Given the description of an element on the screen output the (x, y) to click on. 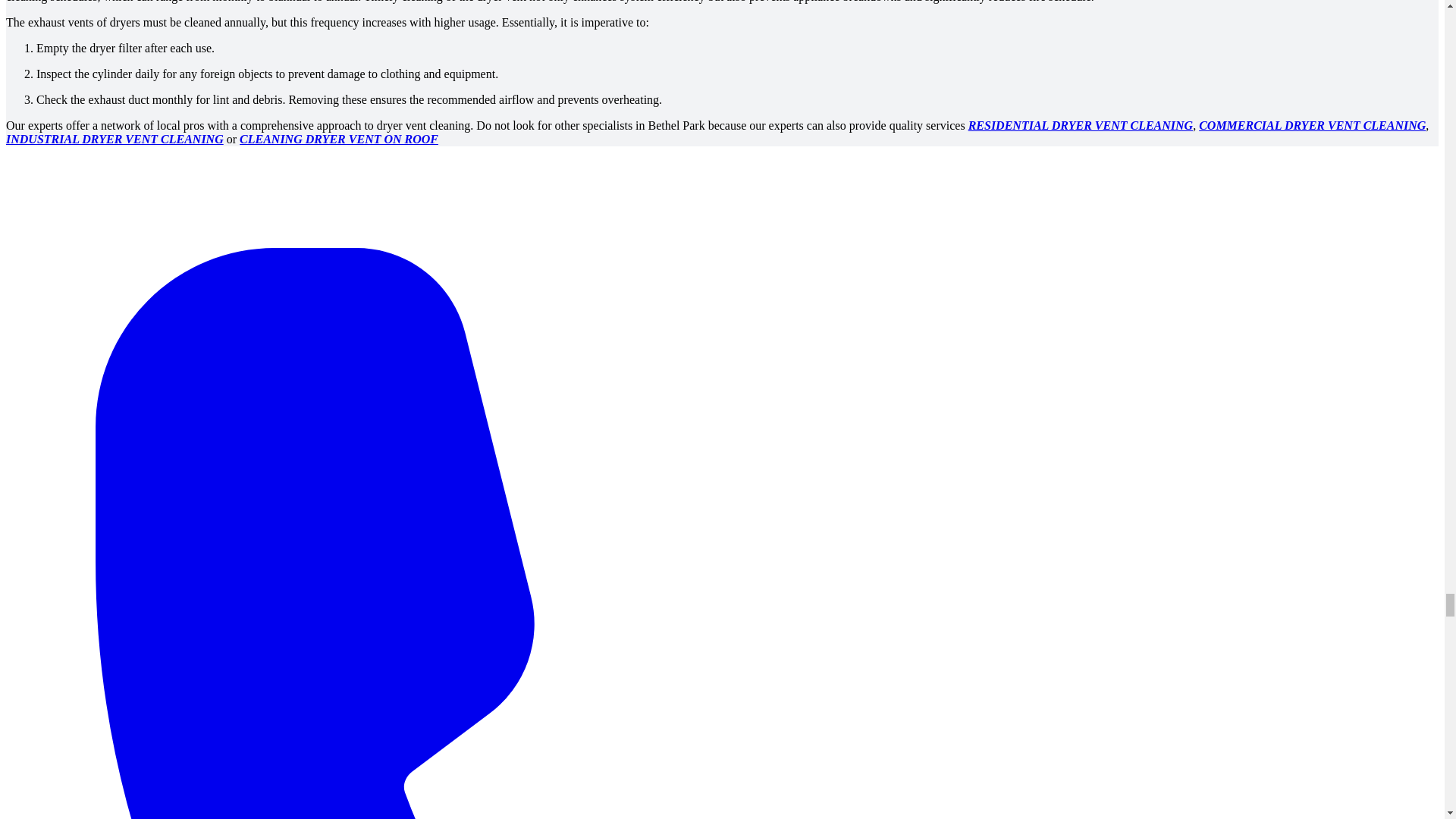
COMMERCIAL DRYER VENT CLEANING (1311, 124)
INDUSTRIAL DRYER VENT CLEANING (114, 138)
RESIDENTIAL DRYER VENT CLEANING (1080, 124)
CLEANING DRYER VENT ON ROOF (339, 138)
